Given the description of an element on the screen output the (x, y) to click on. 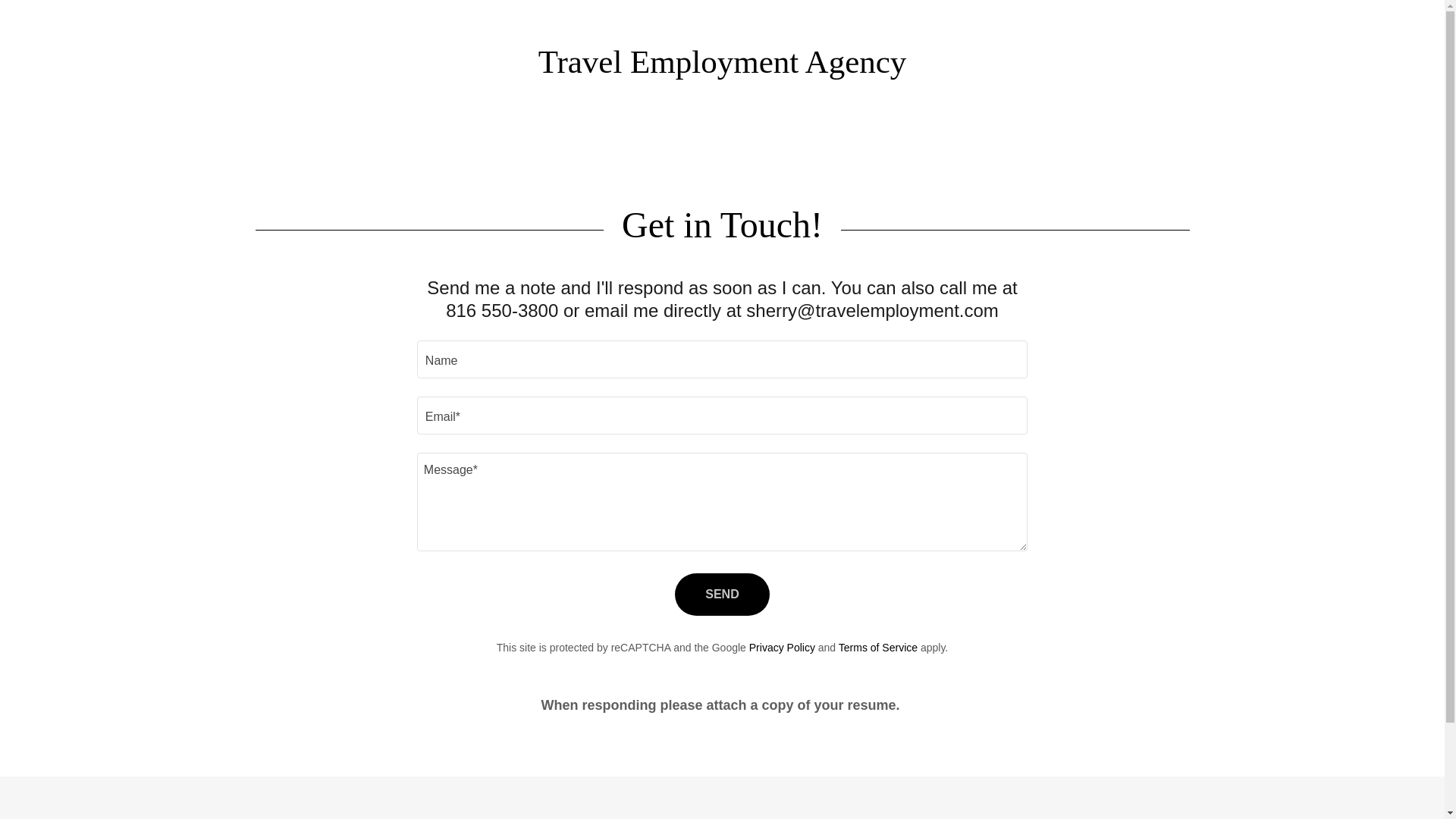
Travel Employment Agency (722, 68)
Terms of Service (877, 647)
Privacy Policy (782, 647)
Travel Employment Agency (722, 68)
SEND (721, 594)
